Given the description of an element on the screen output the (x, y) to click on. 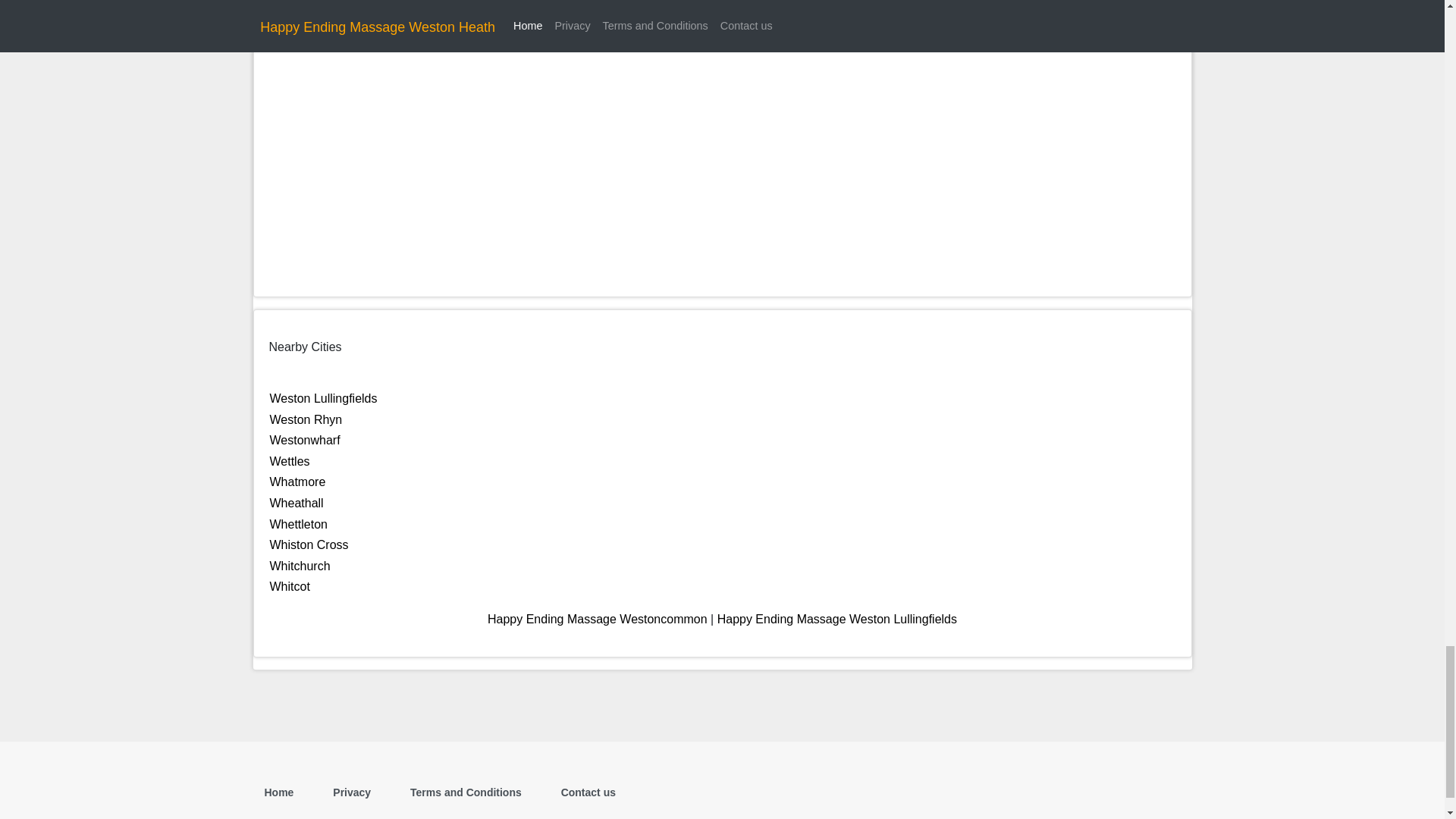
Weston Rhyn (305, 419)
Happy Ending Massage Westoncommon (597, 618)
Whitcot (289, 585)
Westonwharf (304, 440)
Whatmore (297, 481)
Whettleton (298, 523)
Whitchurch (299, 565)
Happy Ending Massage Weston Lullingfields (836, 618)
Weston Lullingfields (323, 398)
Wettles (289, 461)
Whiston Cross (309, 544)
Wheathall (296, 502)
